Given the description of an element on the screen output the (x, y) to click on. 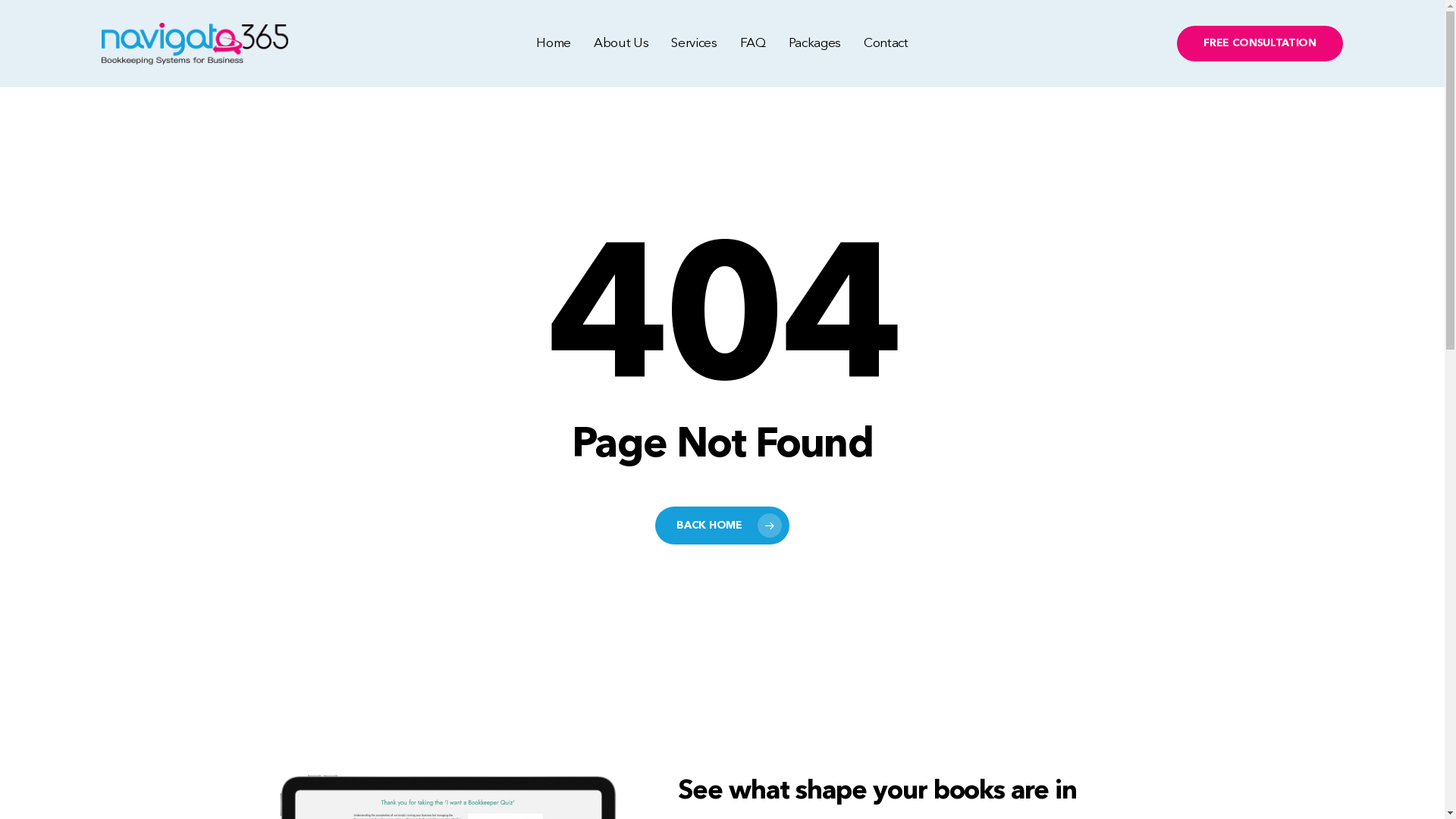
Packages Element type: text (814, 43)
Services Element type: text (693, 43)
FAQ Element type: text (752, 43)
Home Element type: text (553, 43)
FREE CONSULTATION Element type: text (1259, 43)
BACK HOME Element type: text (721, 525)
About Us Element type: text (620, 43)
Contact Element type: text (885, 43)
